Given the description of an element on the screen output the (x, y) to click on. 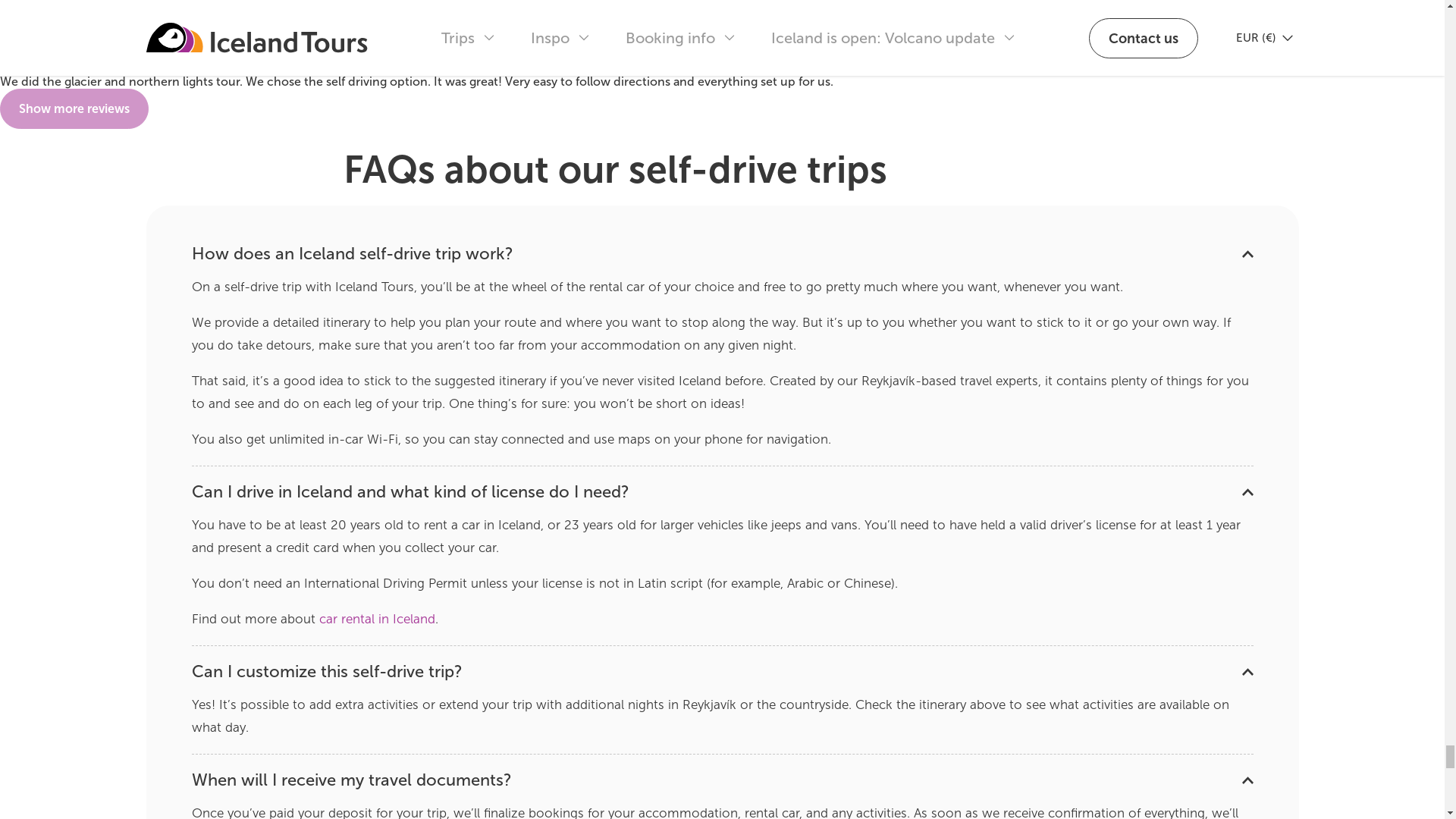
Read more (721, 671)
Read more (721, 491)
Read more (721, 779)
Read more (721, 253)
